Given the description of an element on the screen output the (x, y) to click on. 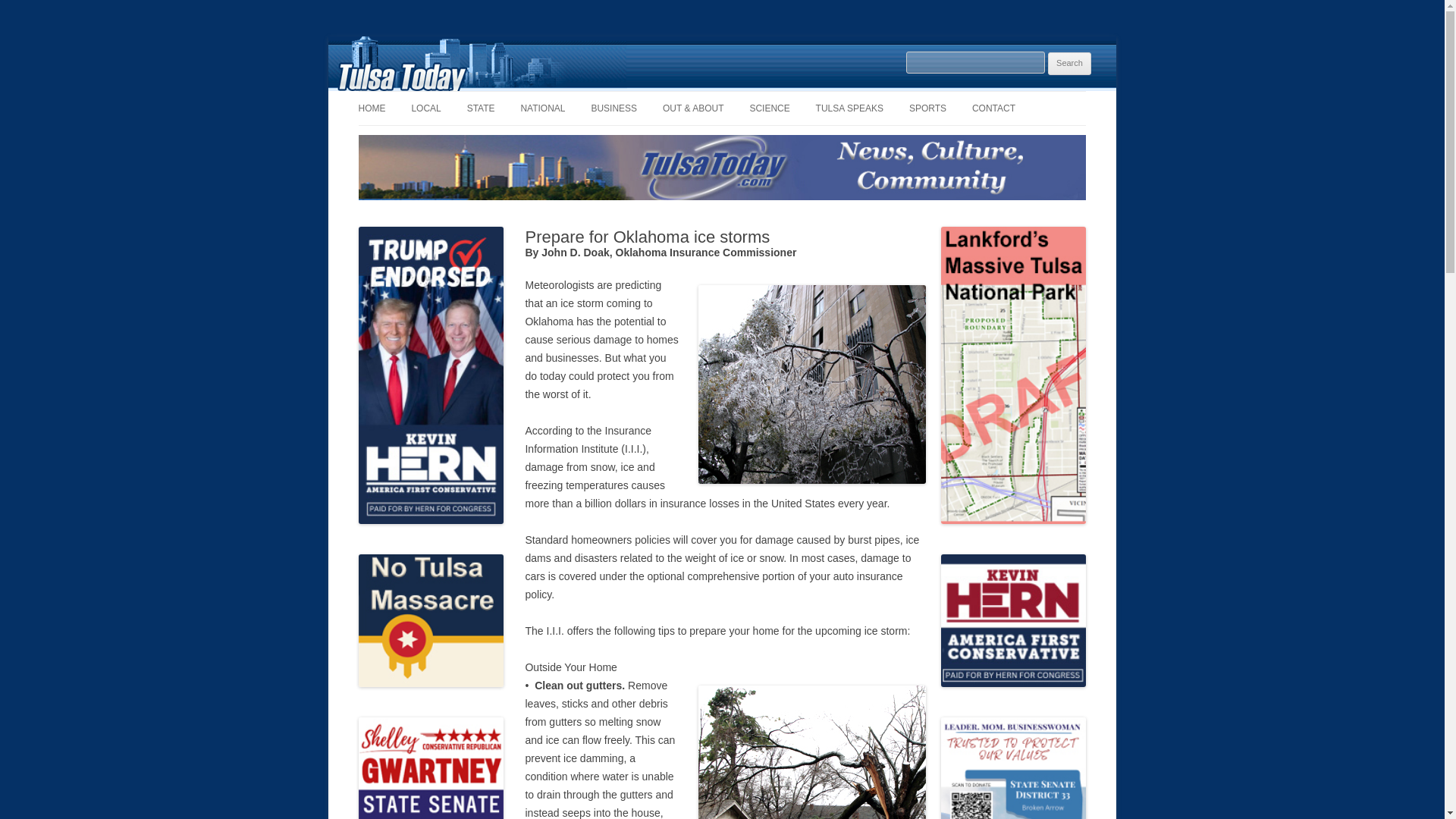
Search (1069, 63)
Search (1069, 63)
Skip to content (757, 95)
TULSA SPEAKS (849, 108)
BUSINESS (614, 108)
CONTACT (993, 108)
NATIONAL (541, 108)
SCIENCE (769, 108)
SPORTS (927, 108)
Skip to content (757, 95)
